Given the description of an element on the screen output the (x, y) to click on. 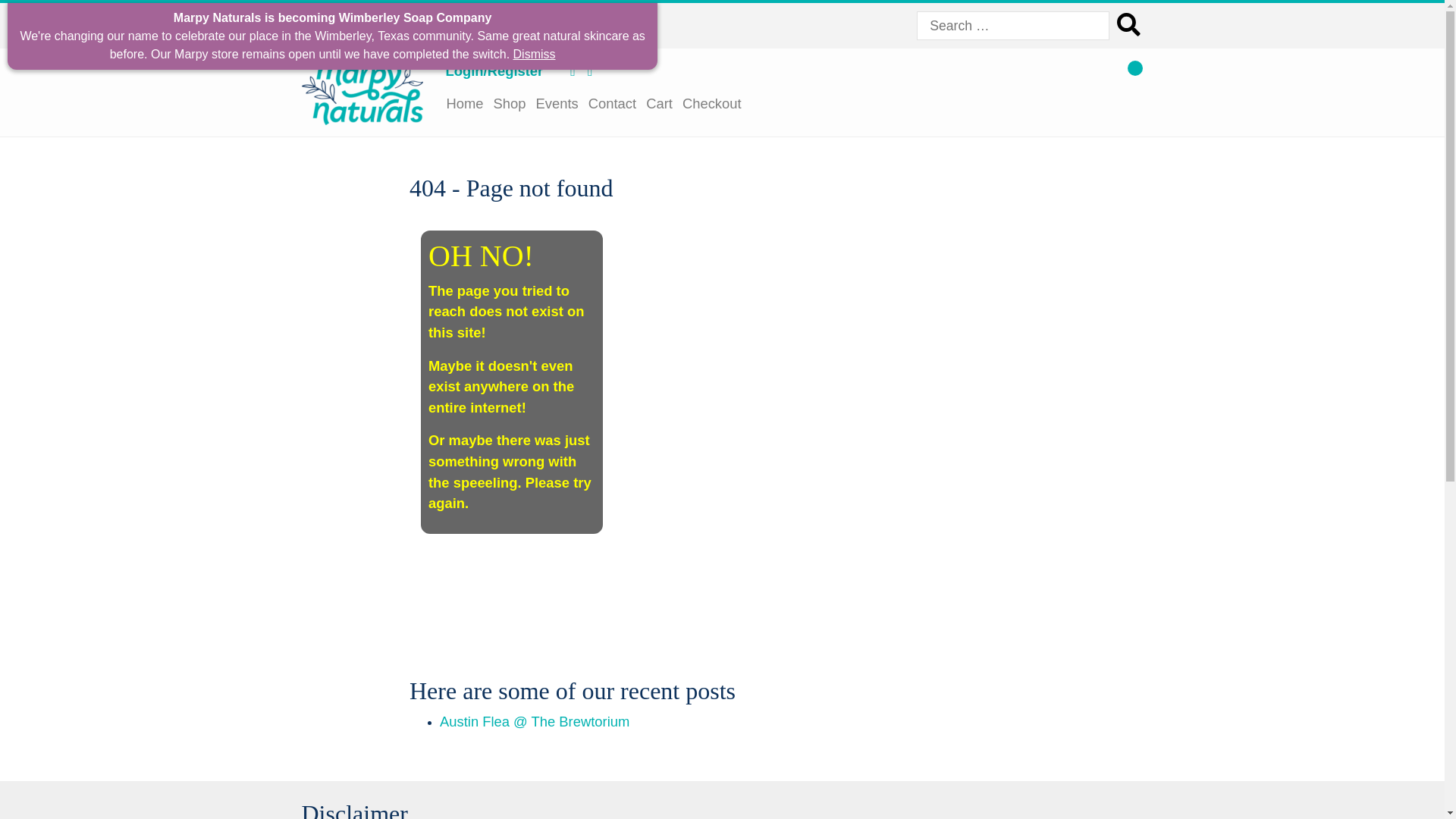
Shop (512, 108)
follow us! (596, 70)
Checkout (715, 108)
Home (467, 108)
Search (1129, 26)
Contact (615, 108)
Contact (615, 108)
Shop (512, 108)
Checkout (715, 108)
Events (560, 108)
